Given the description of an element on the screen output the (x, y) to click on. 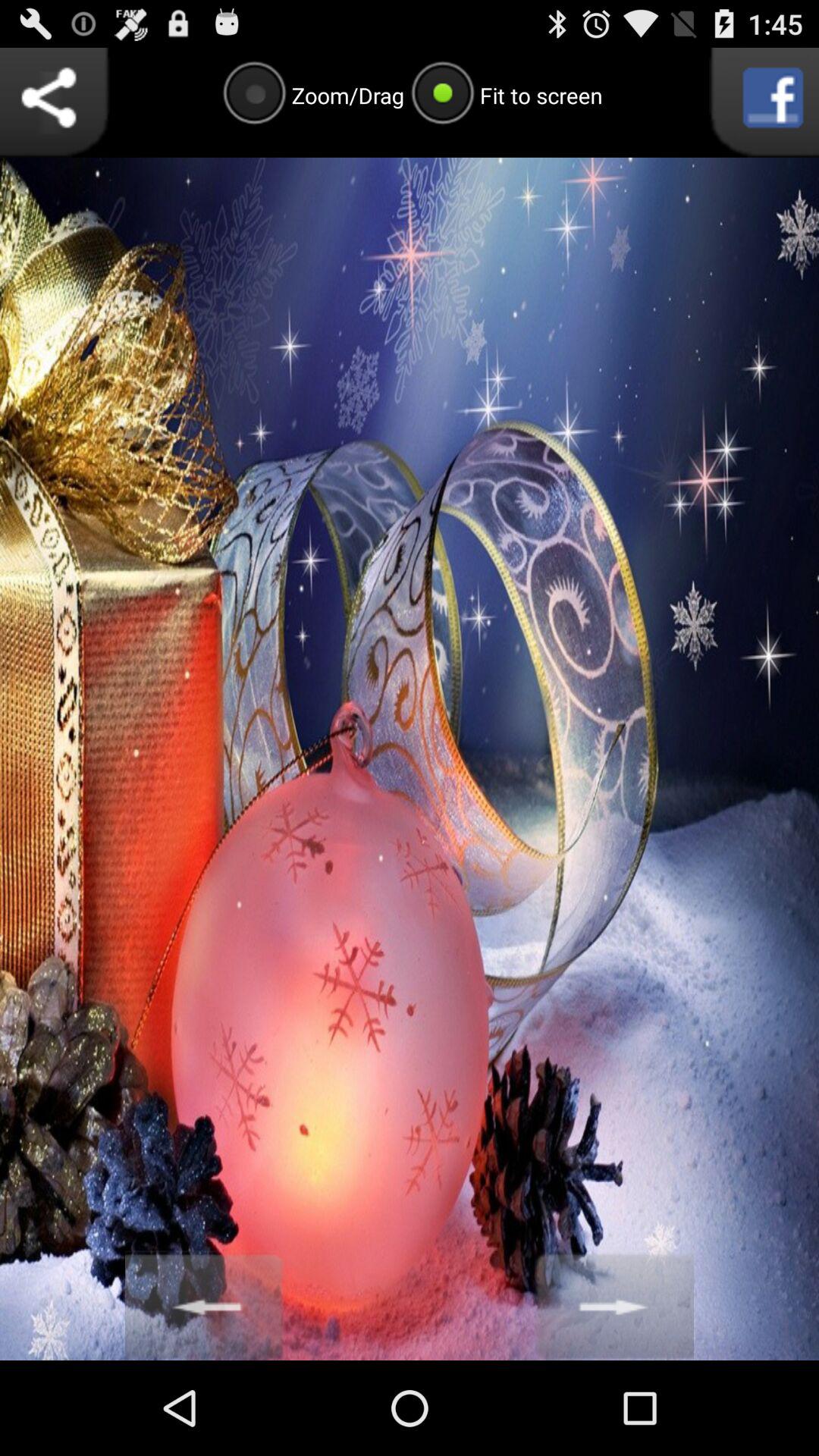
go forward (614, 1305)
